Given the description of an element on the screen output the (x, y) to click on. 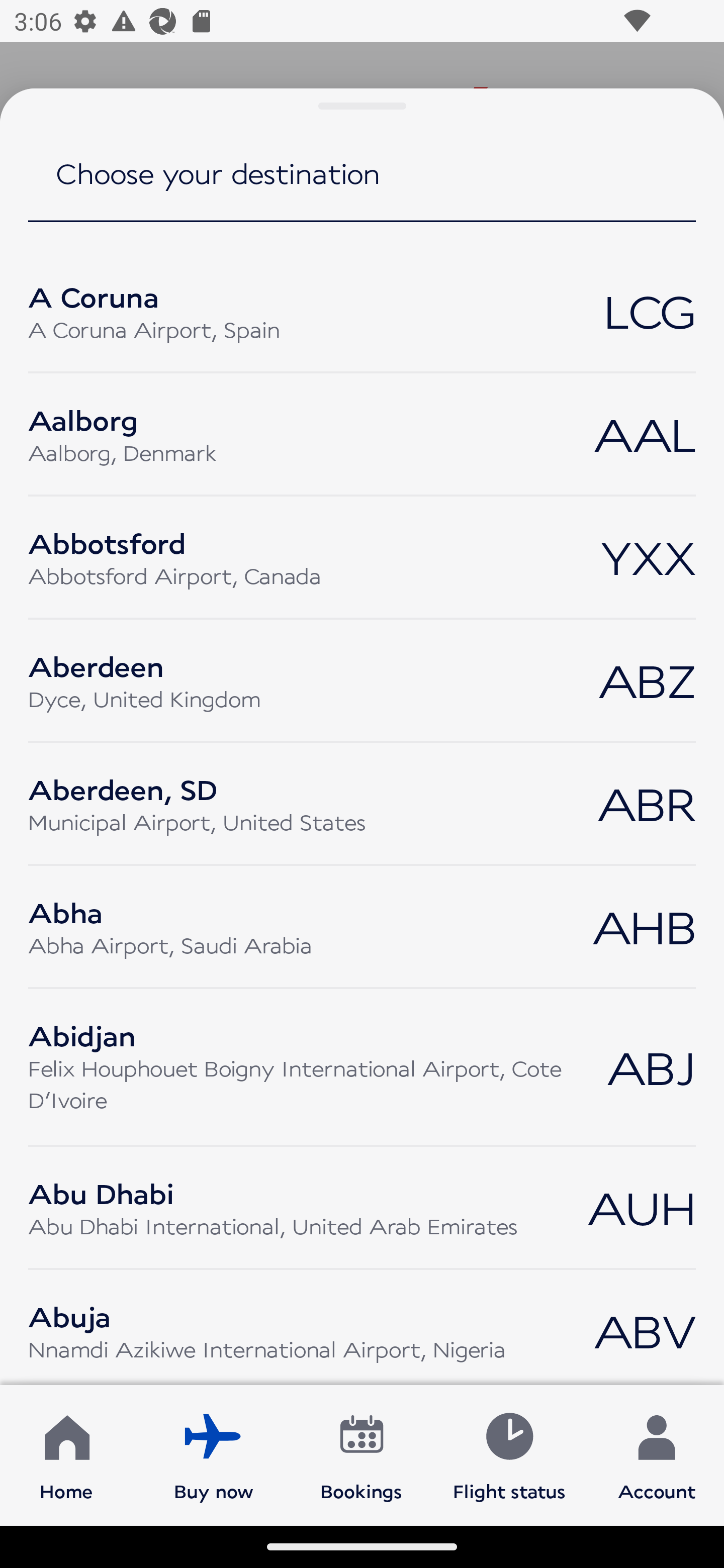
Choose your destination (361, 186)
A Coruna A Coruna Airport, Spain LCG (361, 310)
Aalborg Aalborg, Denmark AAL (361, 434)
Abbotsford Abbotsford Airport, Canada YXX (361, 556)
Aberdeen Dyce, United Kingdom ABZ (361, 680)
Aberdeen, SD Municipal Airport, United States ABR (361, 803)
Abha Abha Airport, Saudi Arabia AHB (361, 926)
Home (66, 1454)
Bookings (361, 1454)
Flight status (509, 1454)
Account (657, 1454)
